Given the description of an element on the screen output the (x, y) to click on. 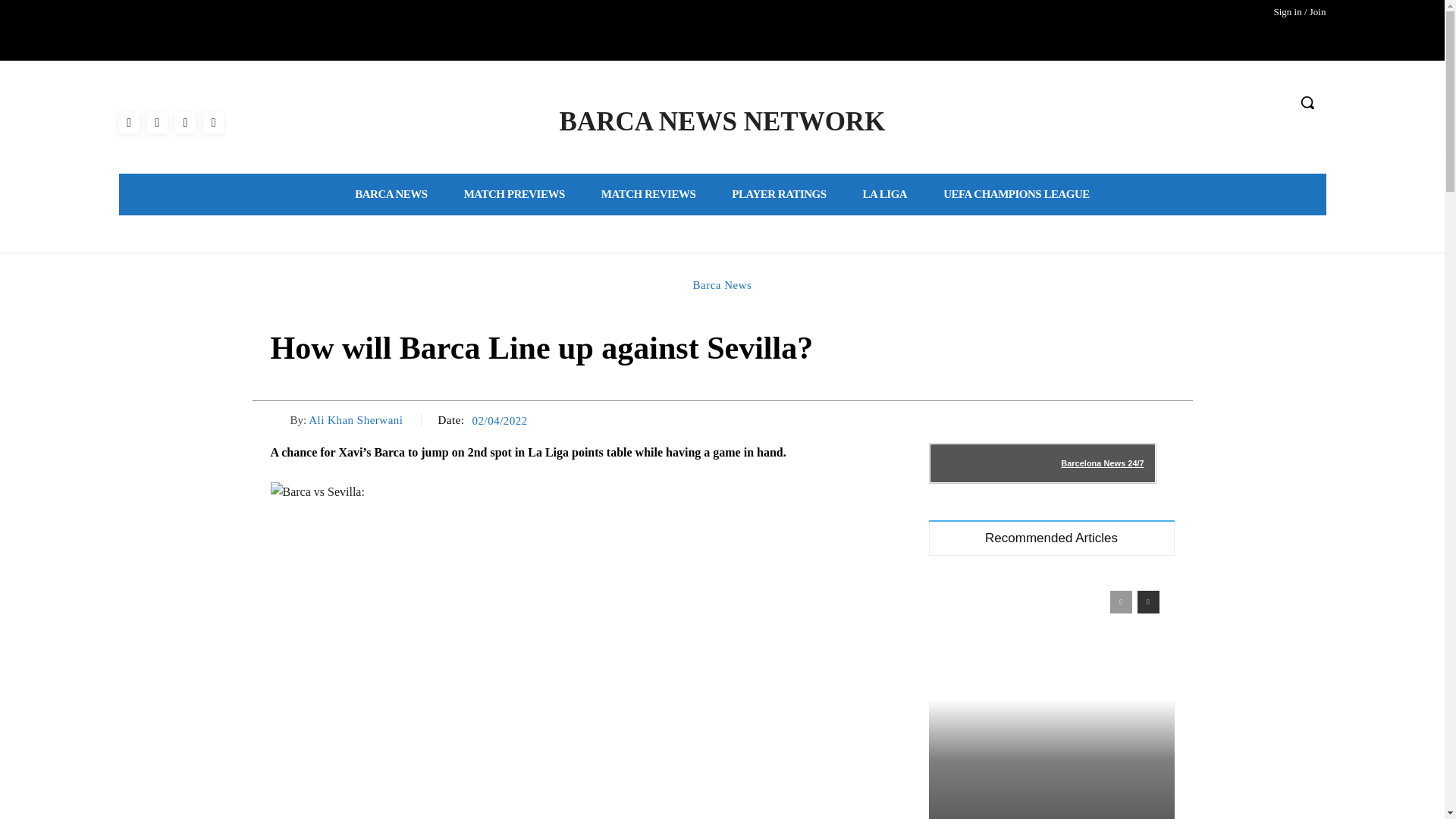
MATCH PREVIEWS (514, 194)
BARCA NEWS NETWORK (721, 122)
Instagram (157, 122)
BARCA NEWS (390, 194)
UEFA CHAMPIONS LEAGUE (1016, 194)
LA LIGA (885, 194)
PLAYER RATINGS (778, 194)
Barca News (722, 284)
